Given the description of an element on the screen output the (x, y) to click on. 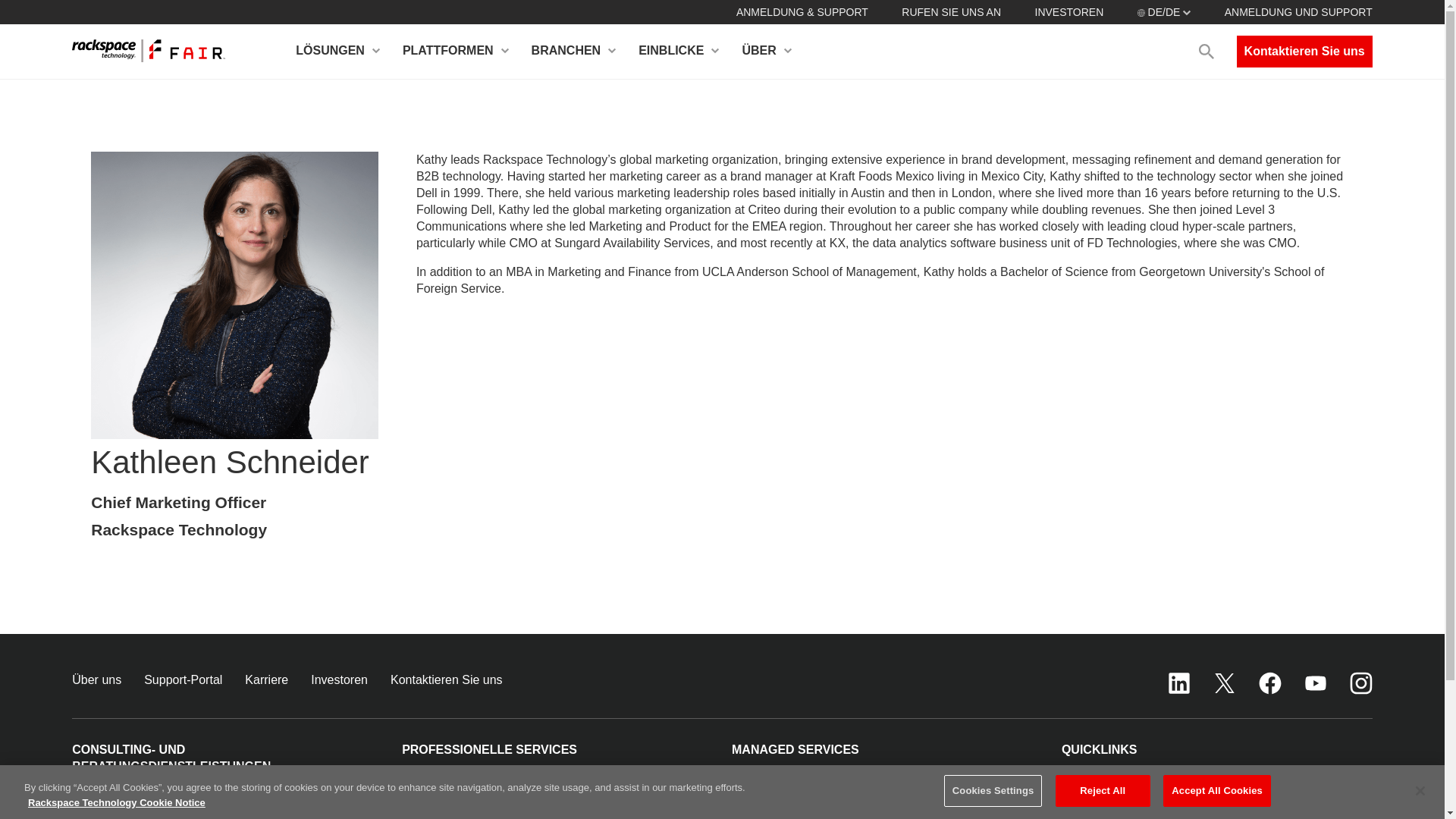
ANMELDUNG UND SUPPORT (1298, 11)
INVESTOREN (1068, 11)
RUFEN SIE UNS AN (951, 11)
